Given the description of an element on the screen output the (x, y) to click on. 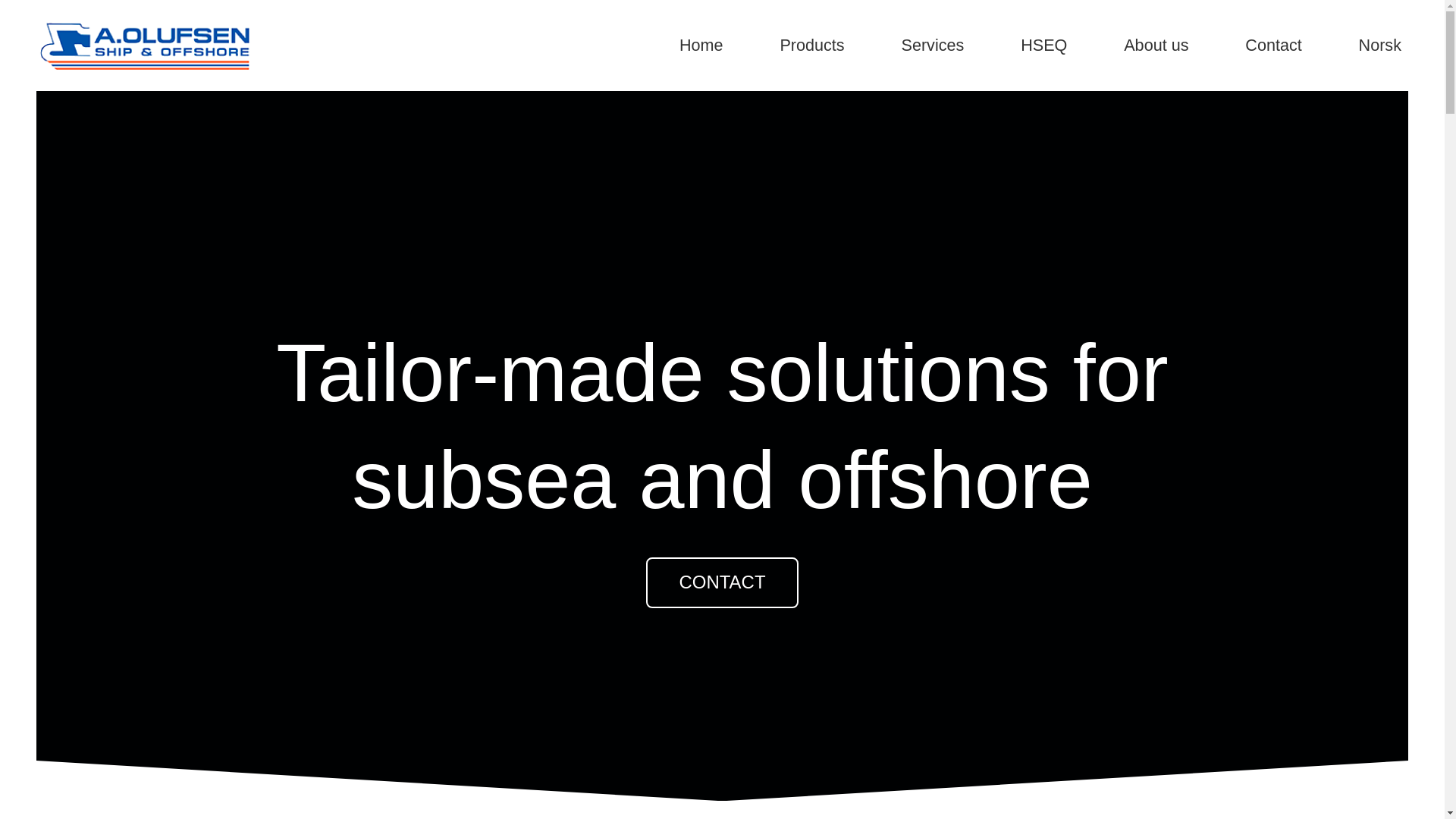
Products (811, 45)
About us (1155, 45)
Services (933, 45)
CONTACT (721, 582)
Home (700, 45)
Contact (721, 582)
HSEQ (1043, 45)
Contact (1272, 45)
Norsk (1380, 45)
